Given the description of an element on the screen output the (x, y) to click on. 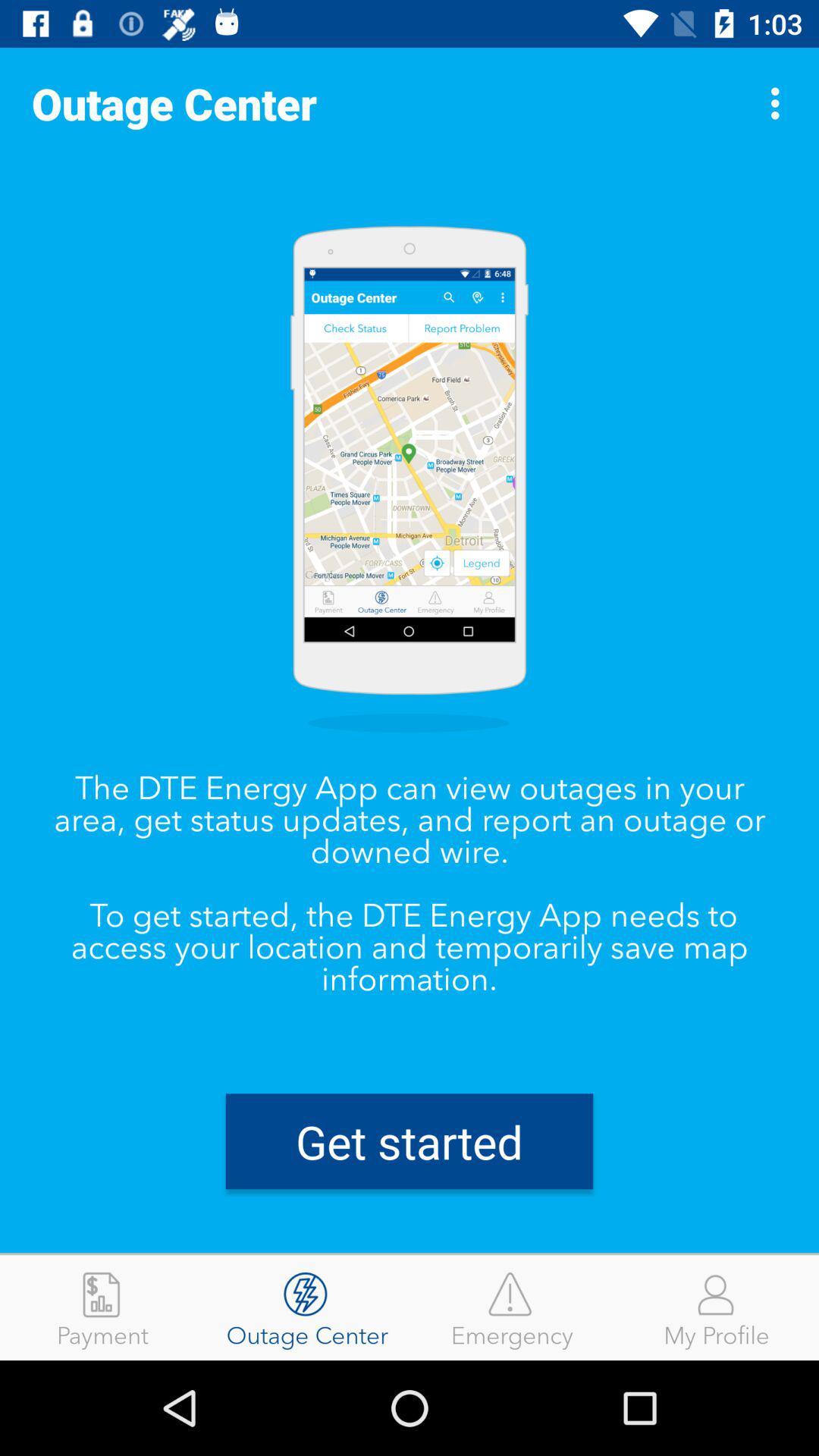
tap icon next to outage center item (779, 103)
